Given the description of an element on the screen output the (x, y) to click on. 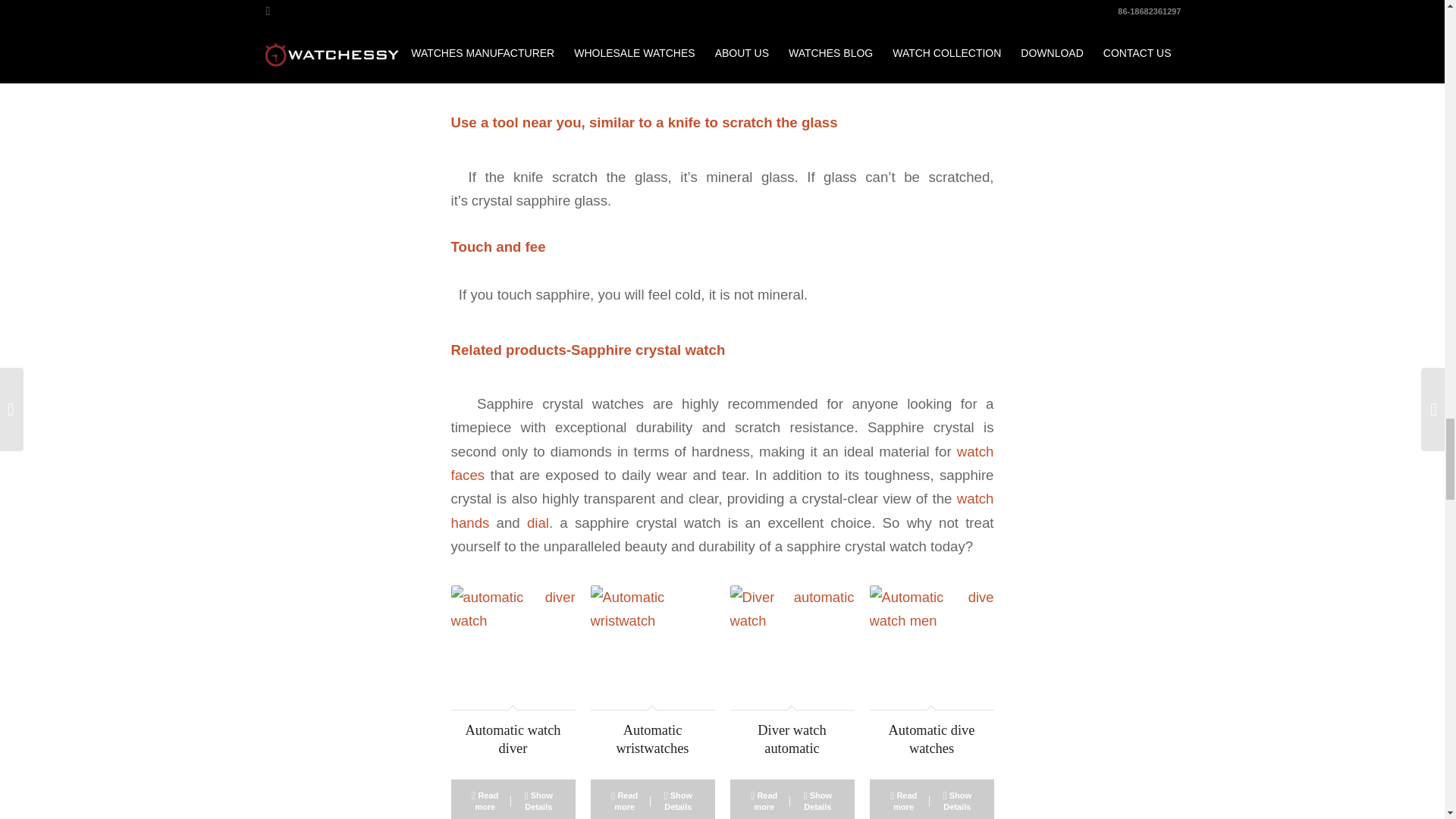
Automatic watch diver automatic diver watch 3 (512, 647)
Automatic watch diver Automatic wristwatch (651, 647)
Automatic watch diver Diver automatic watch (791, 647)
Automatic watch diver Automatic dive watch men (930, 647)
